Given the description of an element on the screen output the (x, y) to click on. 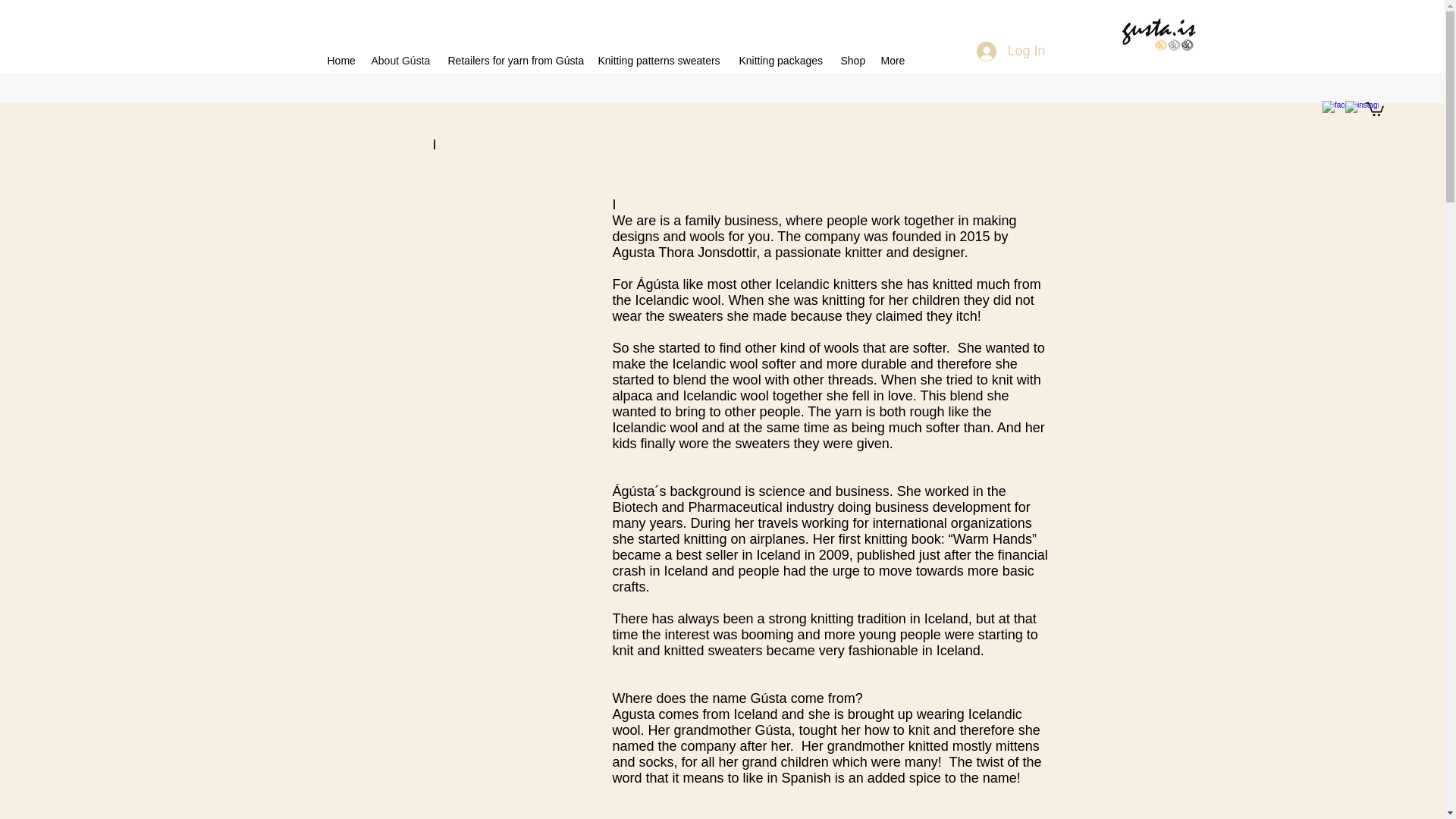
Knitting packages (781, 60)
Knitting patterns sweaters (659, 60)
Shop (852, 60)
Home (342, 60)
Log In (1010, 51)
